Given the description of an element on the screen output the (x, y) to click on. 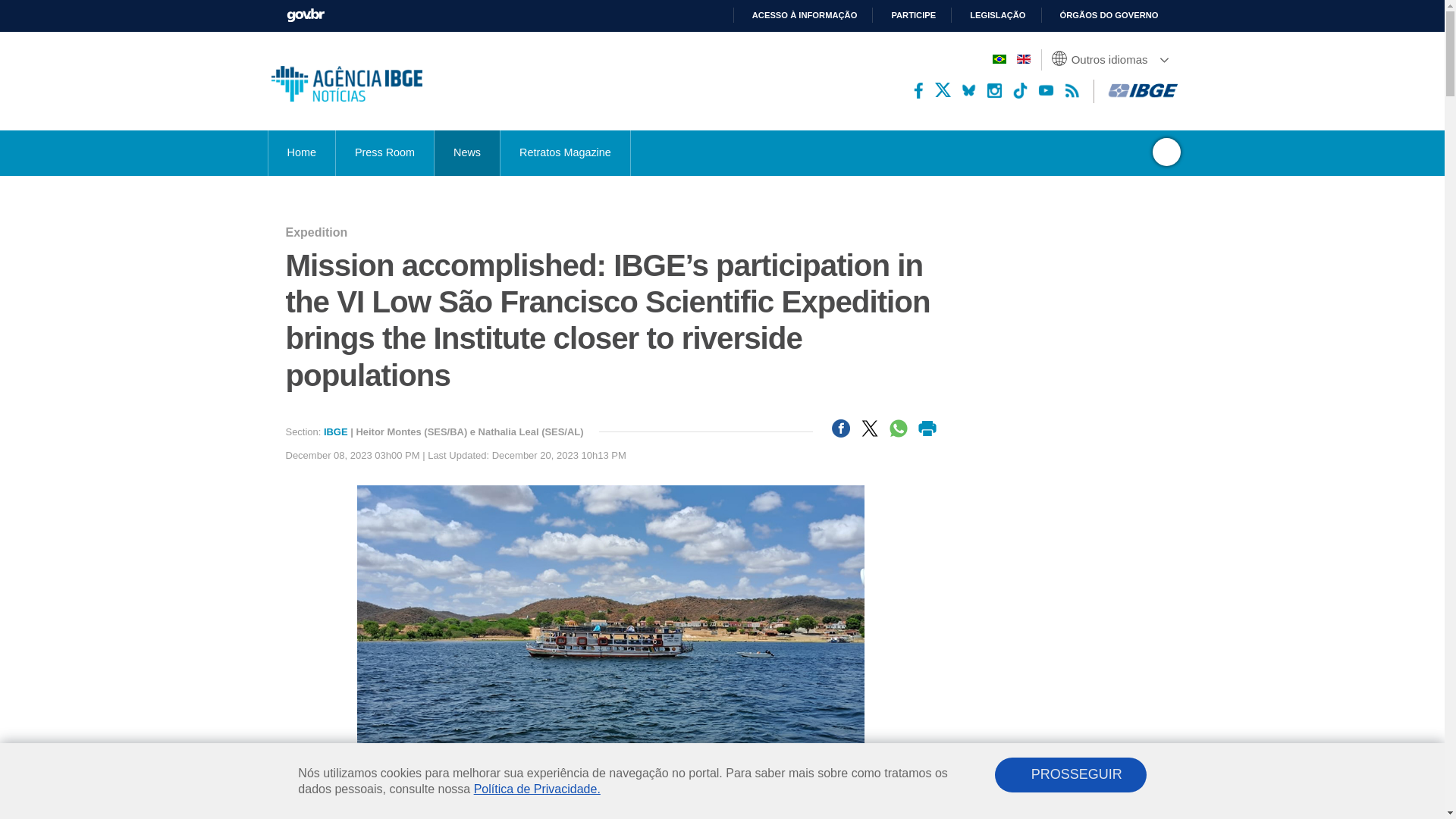
Twitter (942, 90)
English (1022, 58)
GOVBR (305, 14)
PARTICIPE (906, 14)
GovBR (305, 14)
Outros idiomas (1111, 59)
